Given the description of an element on the screen output the (x, y) to click on. 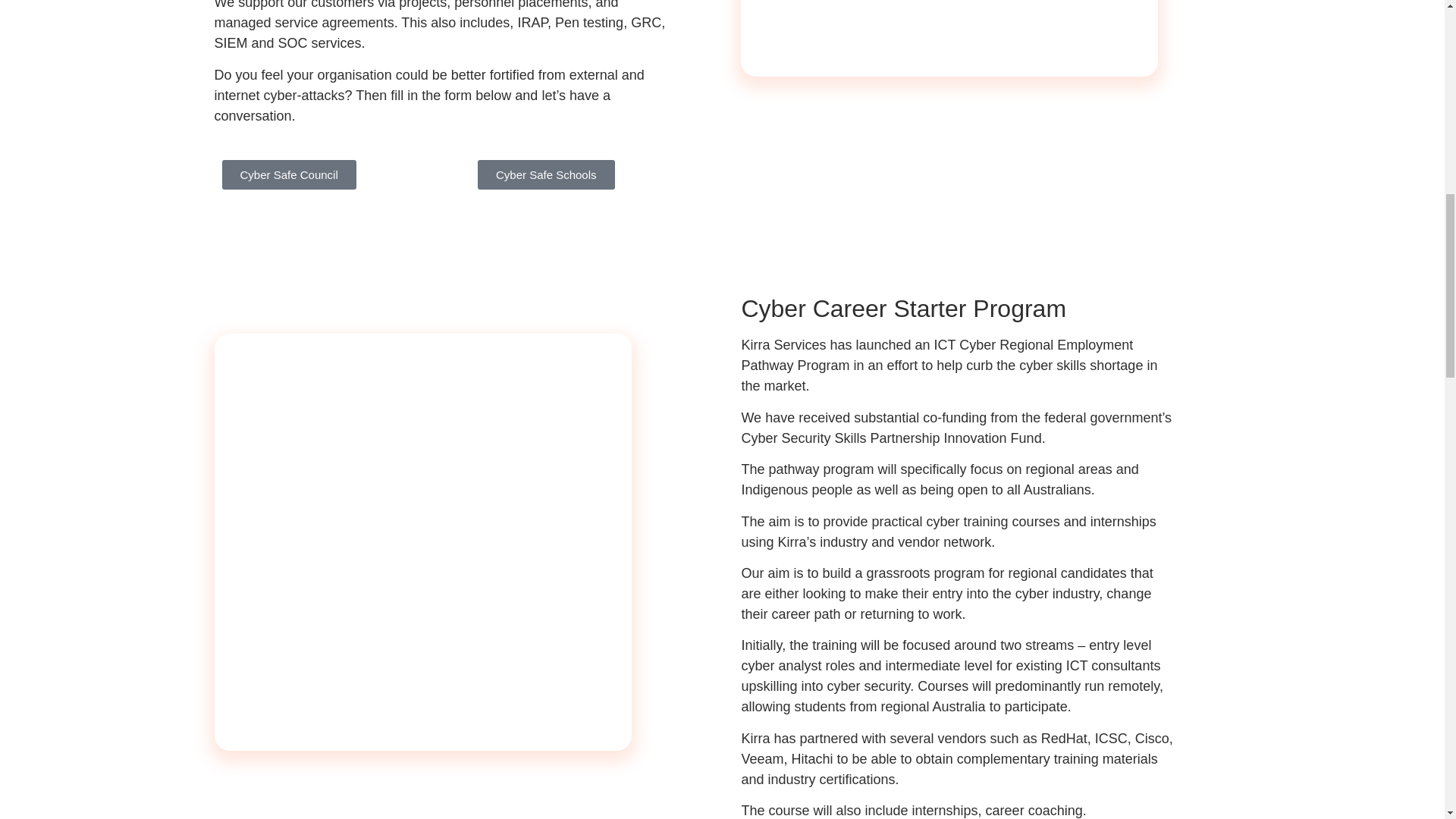
Cyber Security 1 (469, 303)
Cyber Security 3 (949, 38)
